Given the description of an element on the screen output the (x, y) to click on. 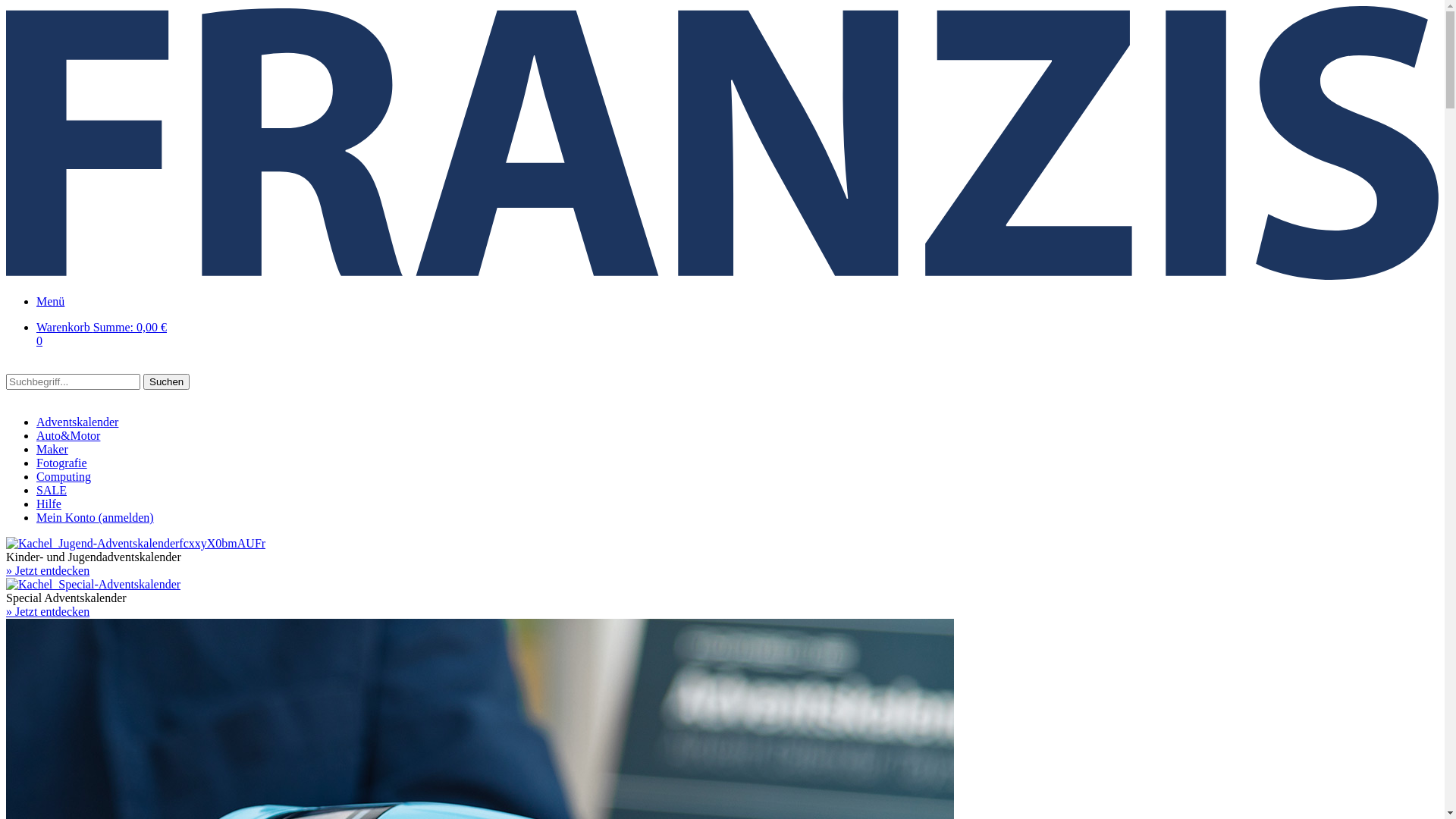
SALE Element type: text (51, 489)
Mein Konto (anmelden) Element type: text (94, 517)
 - zur Startseite wechseln Element type: hover (722, 275)
Kinder- und Jugendadventskalender Element type: hover (135, 542)
Maker Element type: text (52, 448)
Special Adventskalender Element type: hover (93, 583)
Hilfe Element type: text (48, 503)
Adventskalender Element type: text (77, 421)
Fotografie Element type: text (61, 462)
Computing Element type: text (63, 476)
Suchen Element type: text (166, 381)
Auto&Motor Element type: text (68, 435)
